Given the description of an element on the screen output the (x, y) to click on. 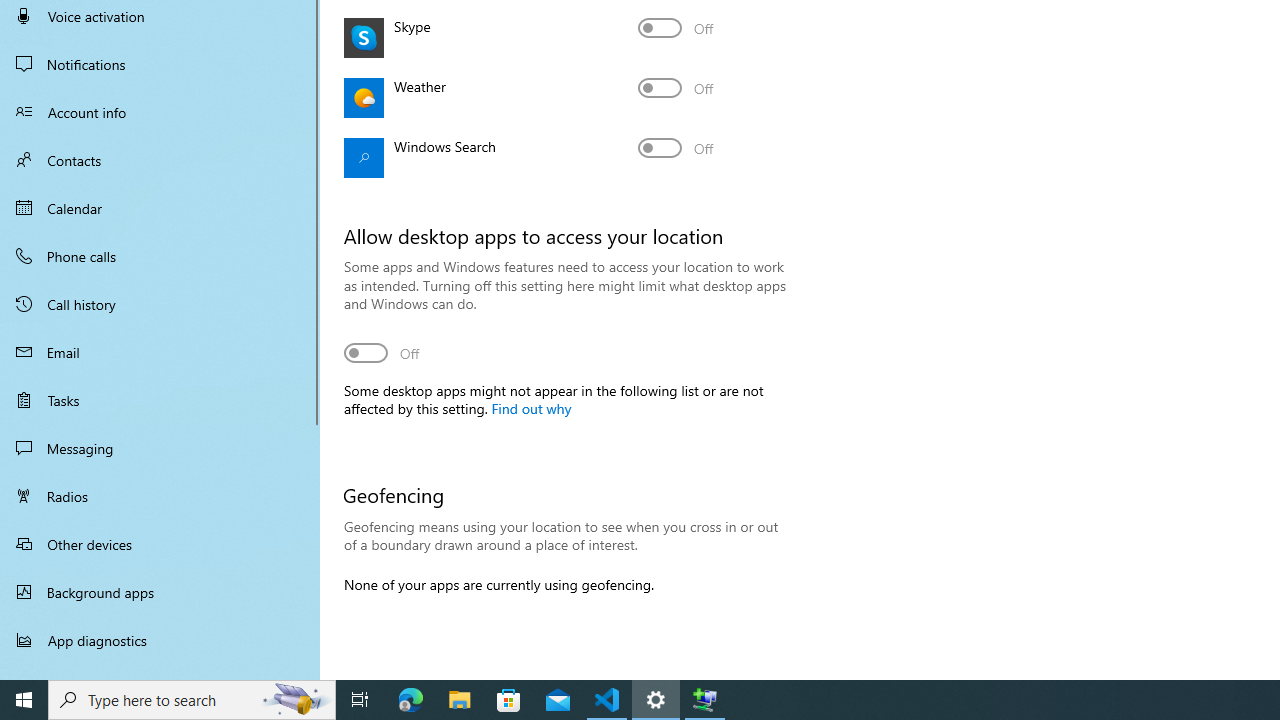
Email (160, 351)
Notifications (160, 63)
Calendar (160, 207)
Tasks (160, 399)
Radios (160, 495)
Skype (675, 27)
Settings - 1 running window (656, 699)
Find out why (530, 407)
Other devices (160, 543)
Automatic file downloads (160, 671)
Windows Search (675, 147)
App diagnostics (160, 639)
